Given the description of an element on the screen output the (x, y) to click on. 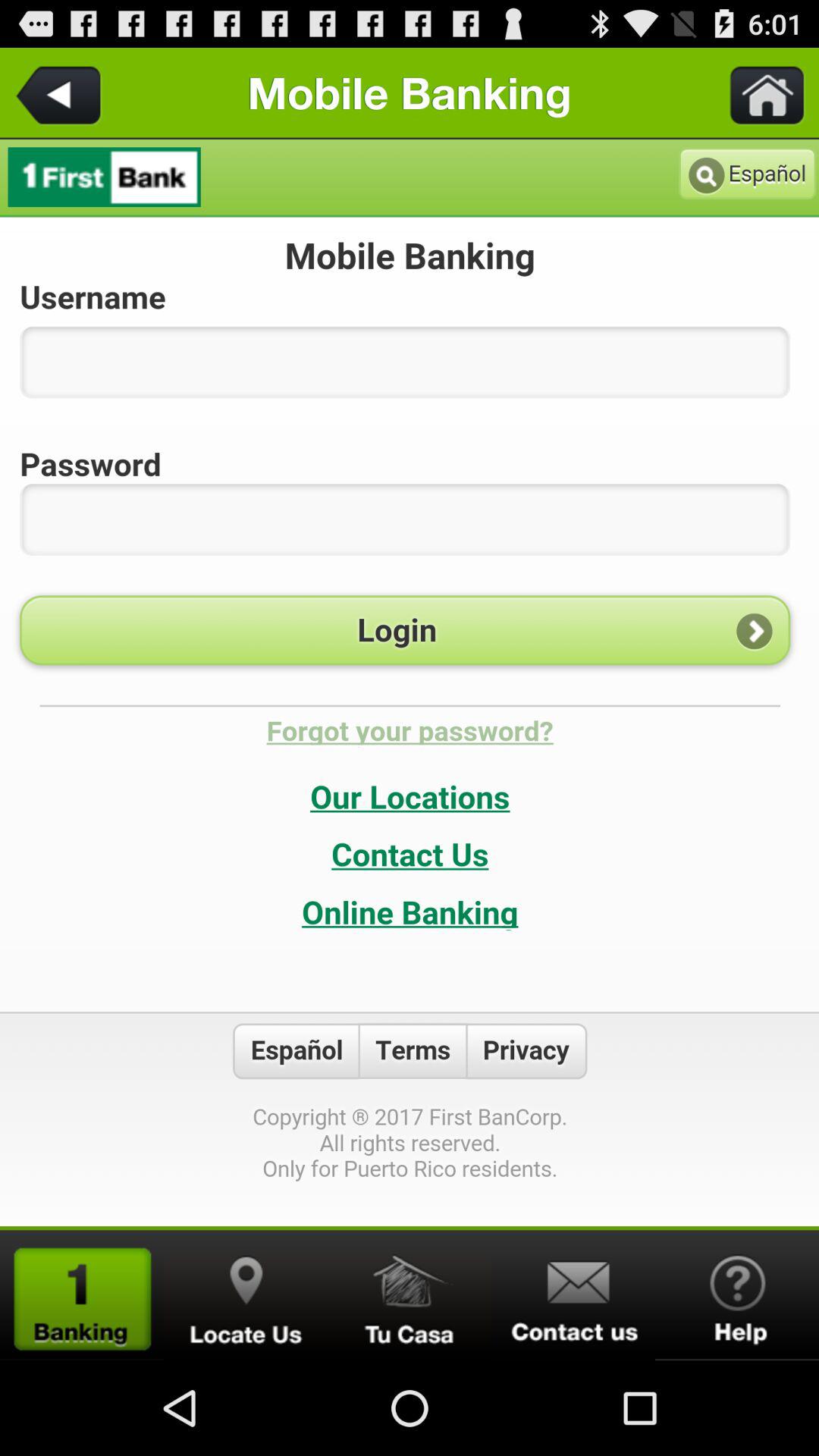
open help (737, 1295)
